Given the description of an element on the screen output the (x, y) to click on. 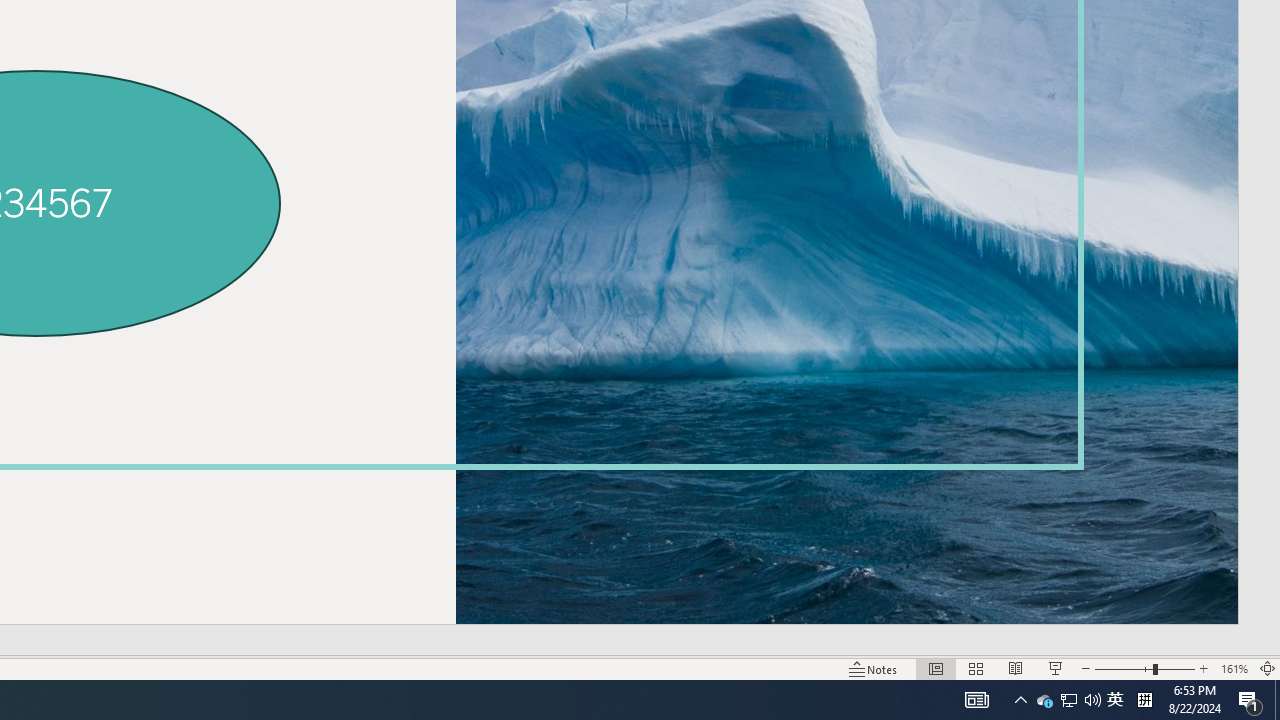
Action Center, 1 new notification (1044, 699)
